Given the description of an element on the screen output the (x, y) to click on. 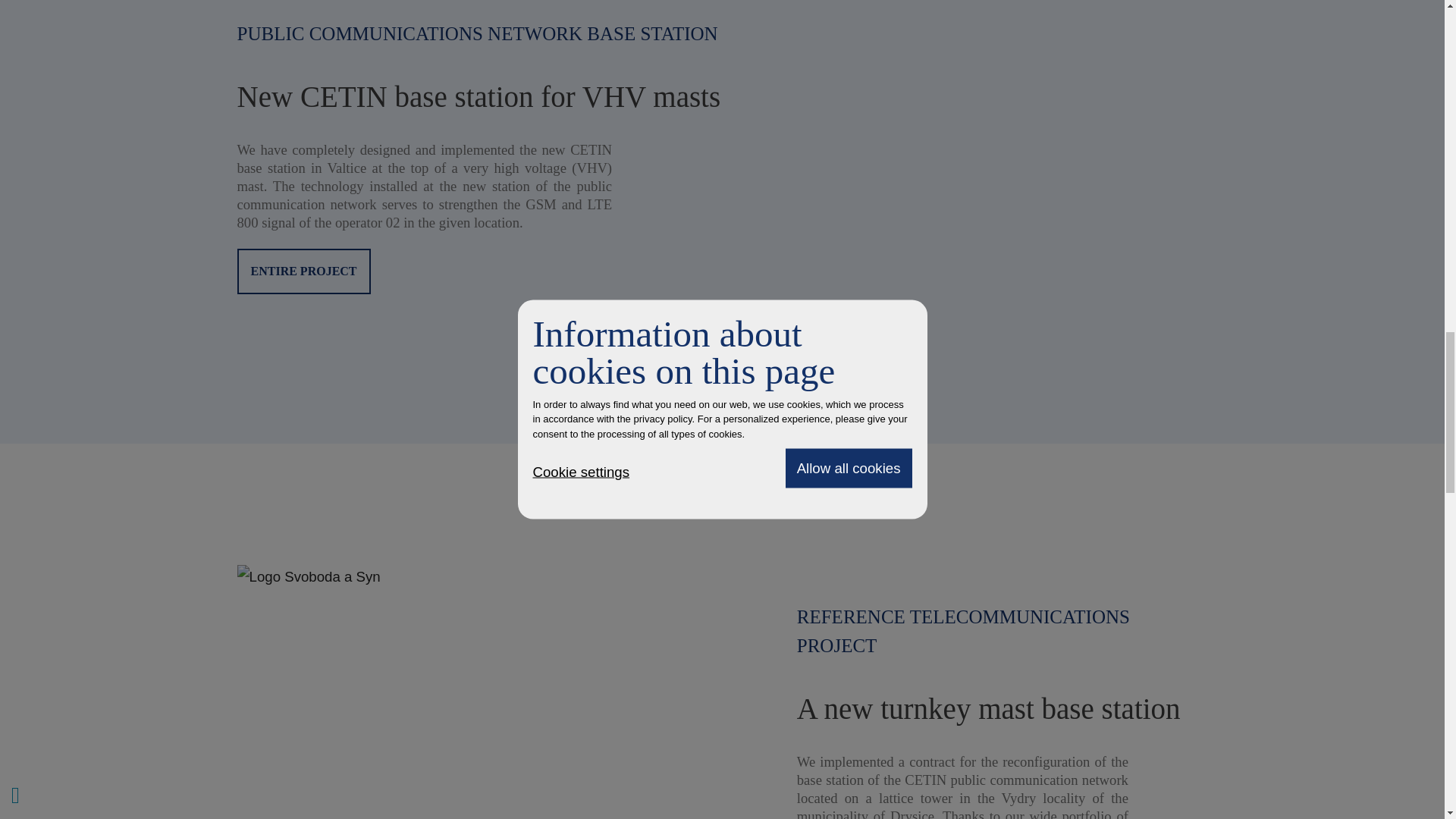
ENTIRE PROJECT (302, 271)
